Given the description of an element on the screen output the (x, y) to click on. 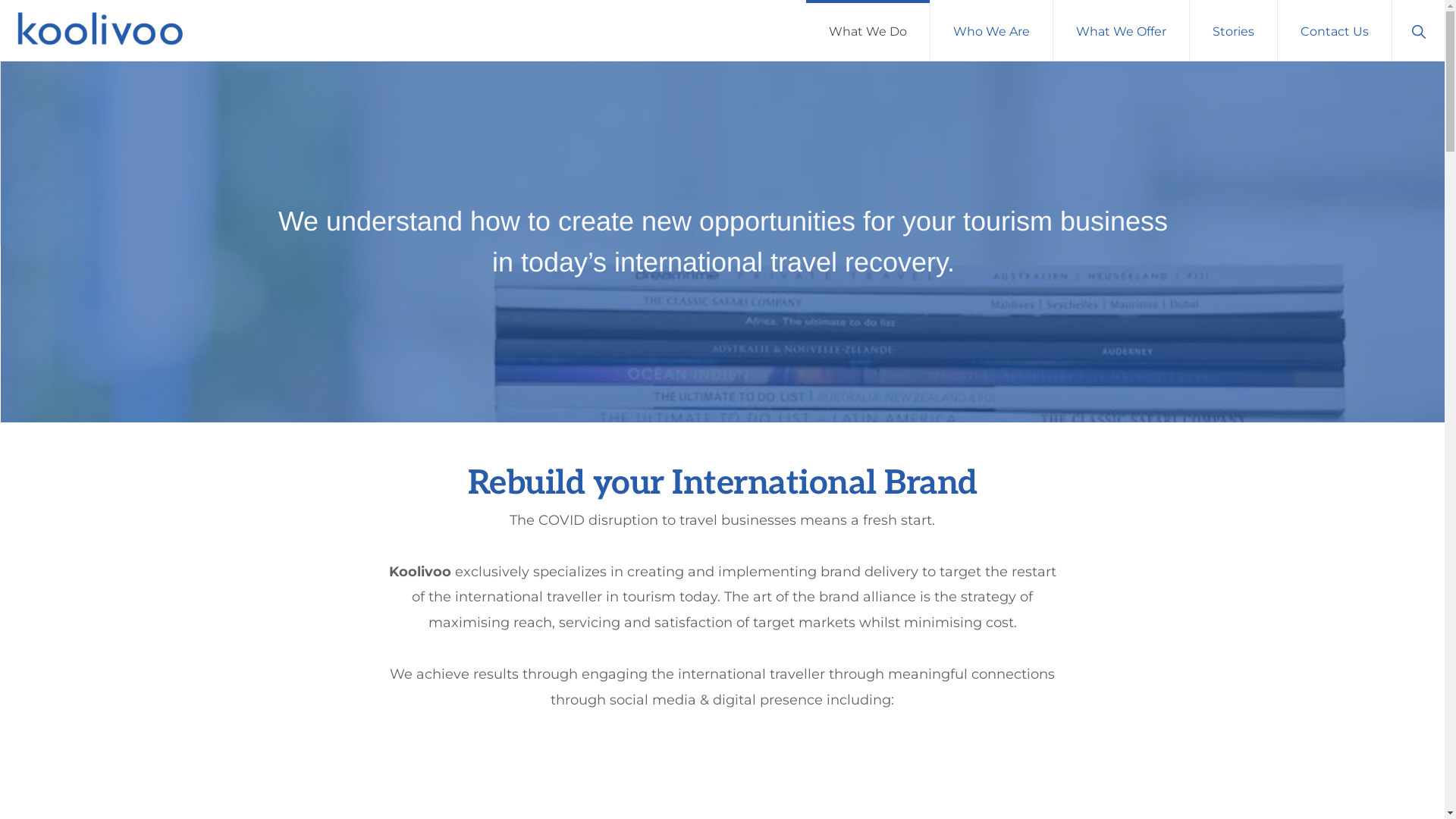
Skip to primary navigation Element type: text (0, 0)
What We Do Element type: text (867, 30)
CONTACT US Element type: text (586, 775)
SUPPLIERS Element type: text (503, 775)
GET CONNECTED Element type: text (1104, 664)
PARTNERS Element type: text (423, 775)
Stories Element type: text (1233, 30)
Show Search Element type: text (1418, 30)
Log in Element type: text (470, 732)
Contact Us Element type: text (1334, 30)
HOME Element type: text (284, 775)
ABOUT US Element type: text (348, 775)
Who We Are Element type: text (991, 30)
What We Offer Element type: text (1121, 30)
